Given the description of an element on the screen output the (x, y) to click on. 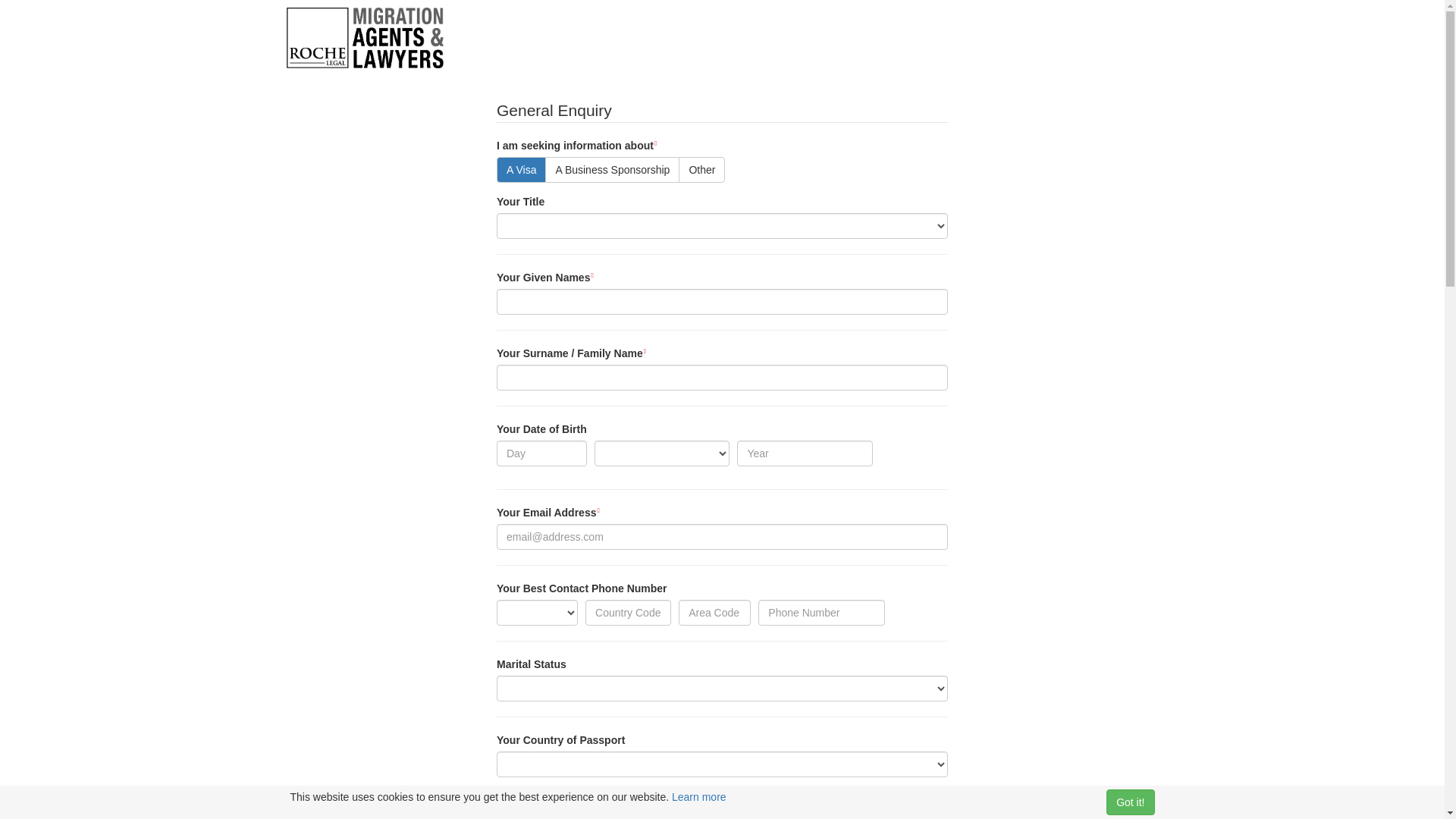
Other Element type: text (701, 169)
Learn more Element type: text (698, 796)
A Visa Element type: text (521, 169)
Got it! Element type: text (1130, 802)
A Business Sponsorship Element type: text (612, 169)
